Given the description of an element on the screen output the (x, y) to click on. 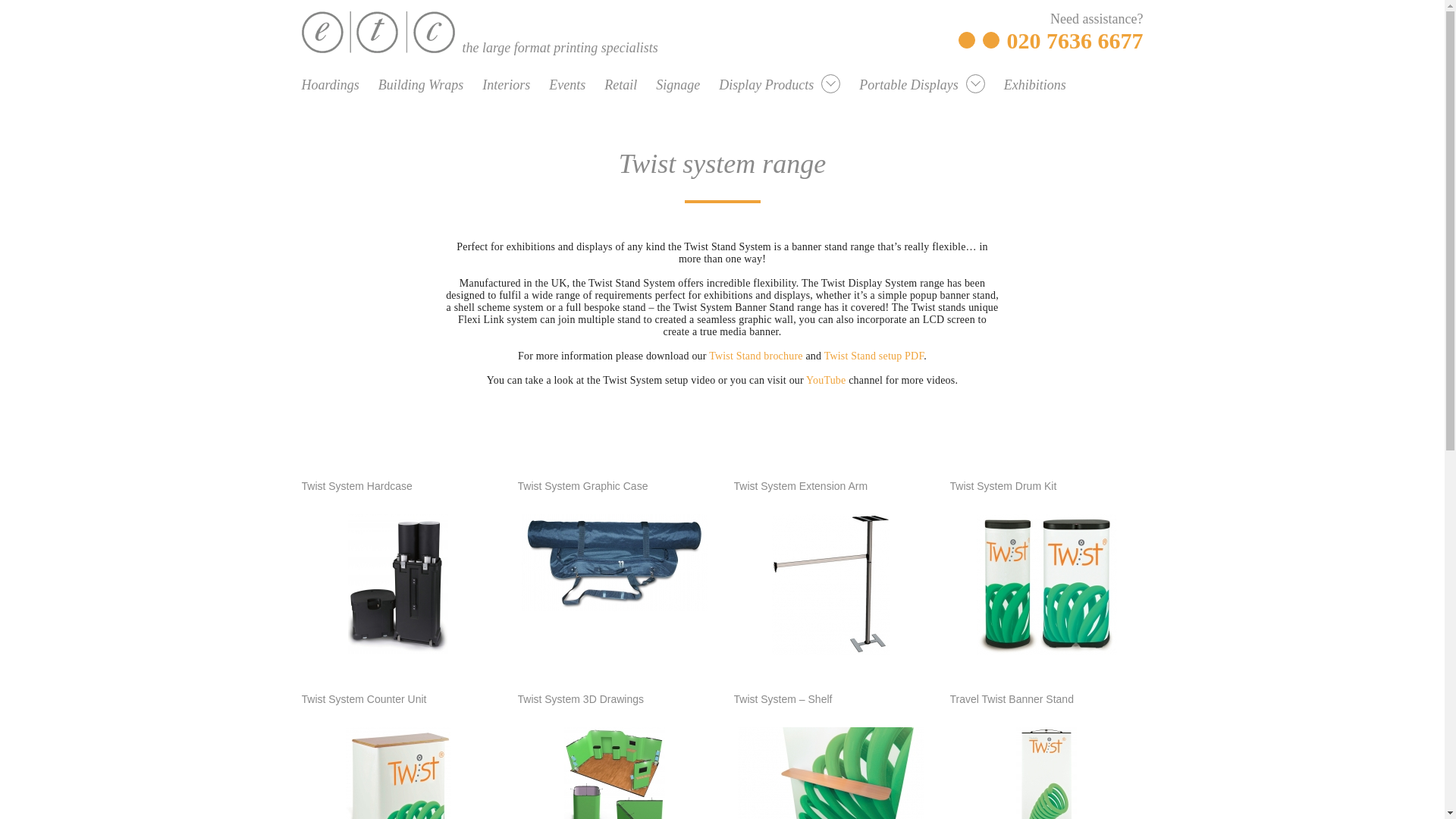
Signage (687, 87)
Twist System Counter Unit (398, 769)
Twist Stand brochure (756, 355)
Signage (678, 84)
Hoardings (339, 87)
Twist System Graphic Case (614, 573)
Exhibitions (1034, 84)
020 7636 6677 (1074, 40)
Interiors (505, 84)
Hoardings (330, 84)
